Given the description of an element on the screen output the (x, y) to click on. 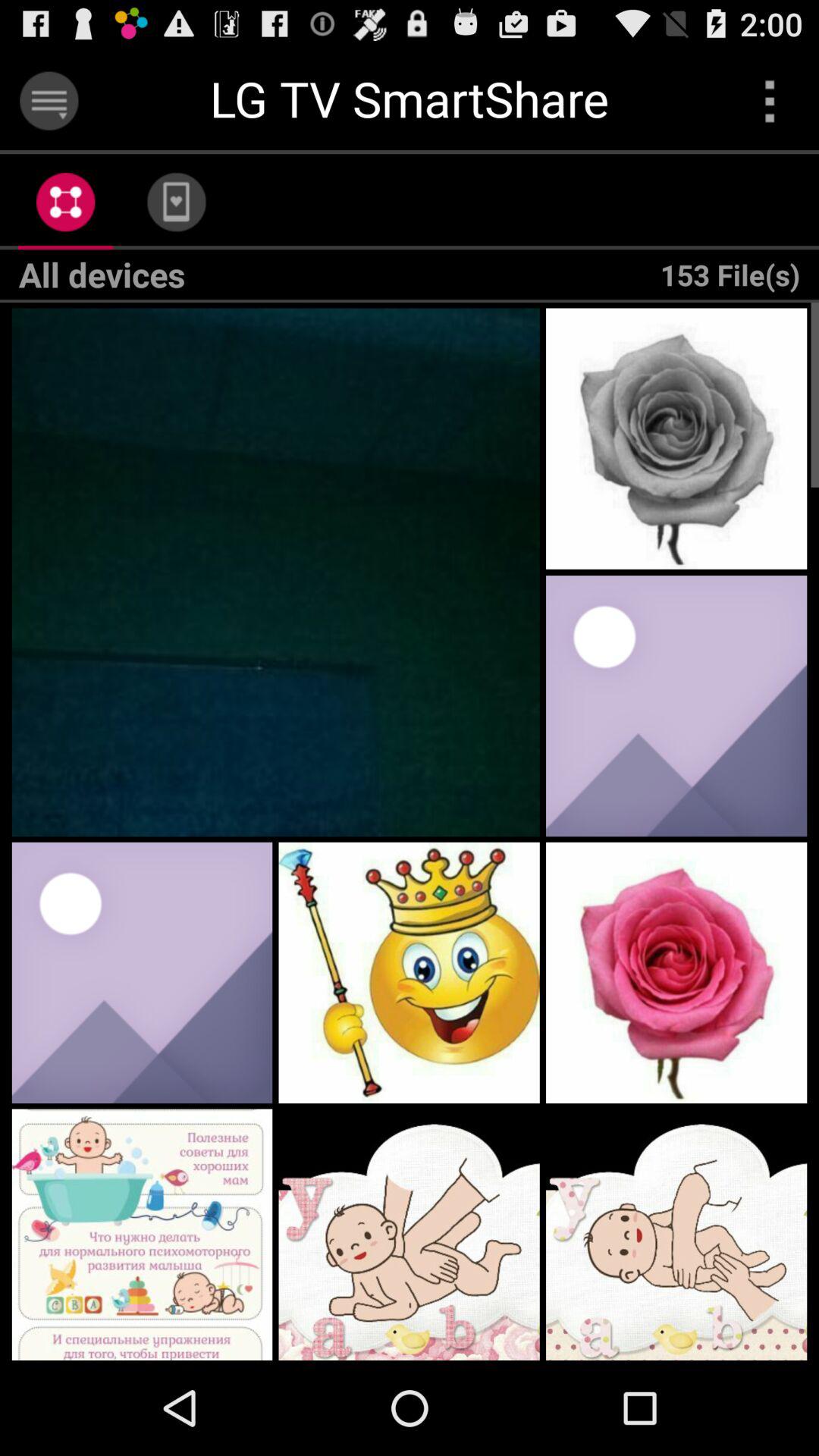
open menu (48, 100)
